Given the description of an element on the screen output the (x, y) to click on. 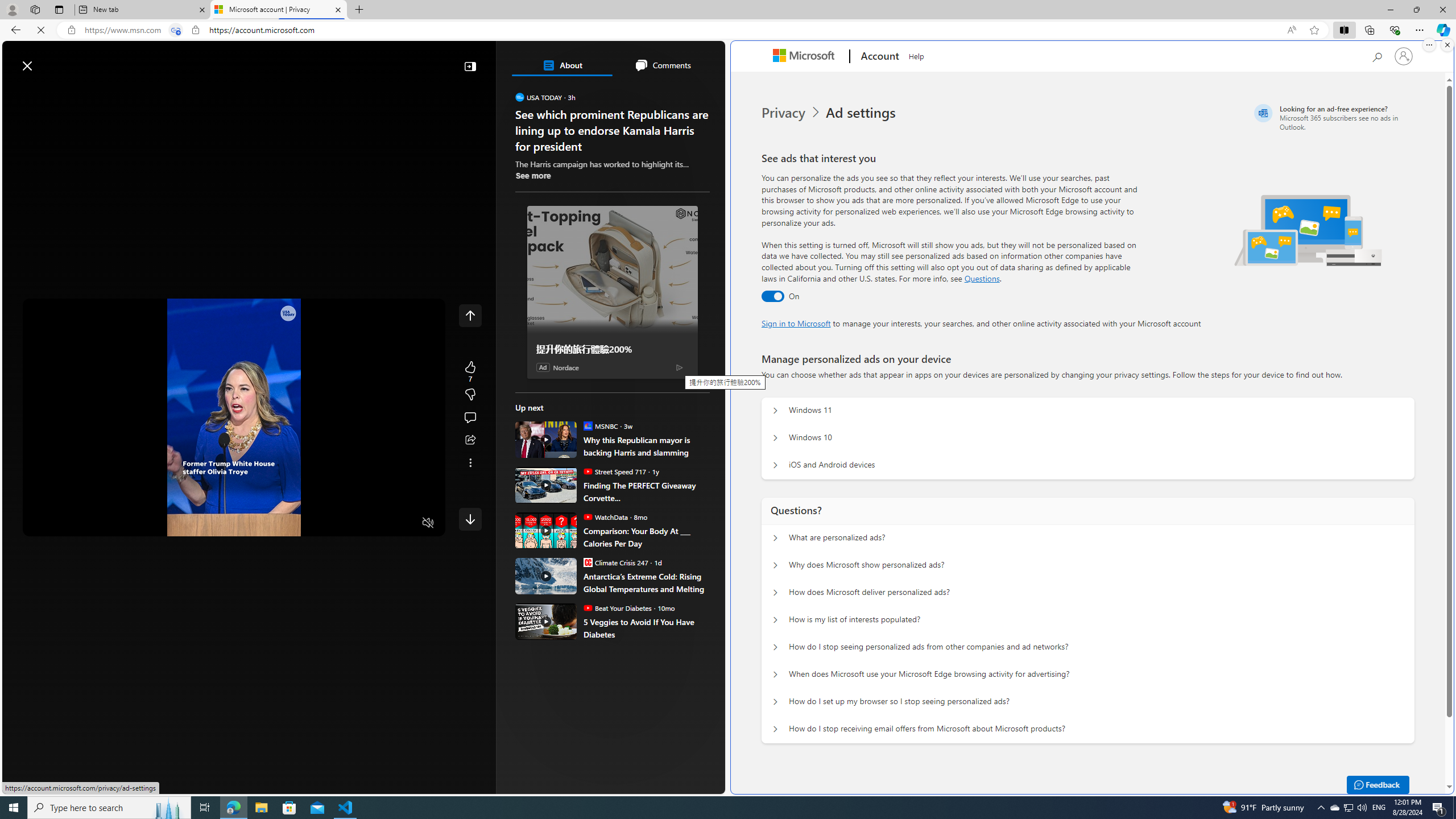
Manage personalized ads on your device Windows 10 (775, 437)
5 Veggies to Avoid If You Have Diabetes (646, 628)
Finding The PERFECT Giveaway Corvette... (545, 484)
7 Like (469, 371)
Fullscreen (405, 523)
Questions? How is my list of interests populated? (775, 619)
Go to Questions section (981, 278)
Open navigation menu (16, 92)
Ad settings toggle (772, 296)
Search Microsoft.com (1376, 54)
